Given the description of an element on the screen output the (x, y) to click on. 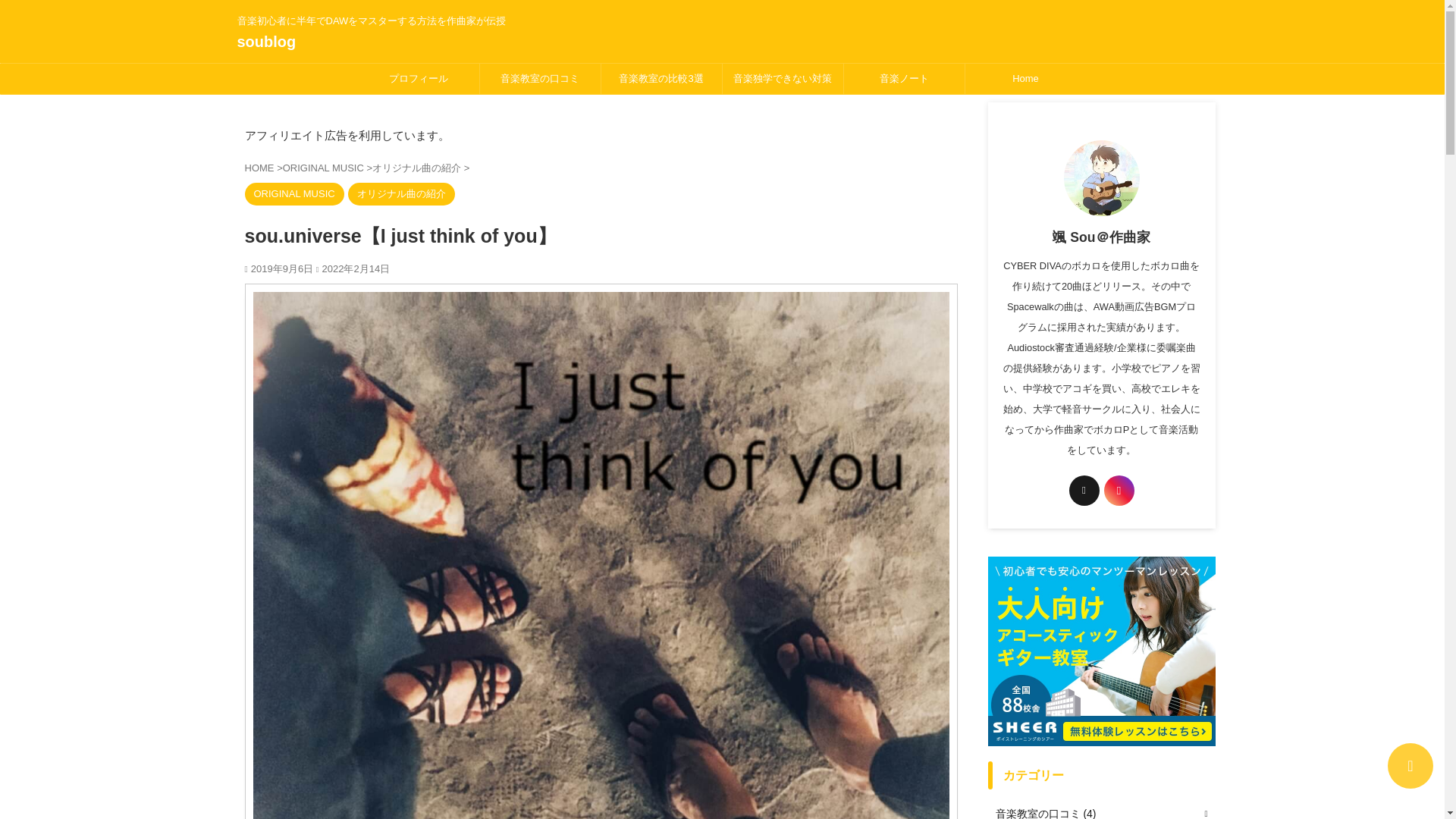
instagram (1118, 490)
HOME (260, 167)
Home (1024, 78)
View all posts in ORIGINAL MUSIC (293, 192)
soublog (265, 41)
twitter (1083, 490)
ORIGINAL MUSIC (324, 167)
ORIGINAL MUSIC (293, 192)
